Given the description of an element on the screen output the (x, y) to click on. 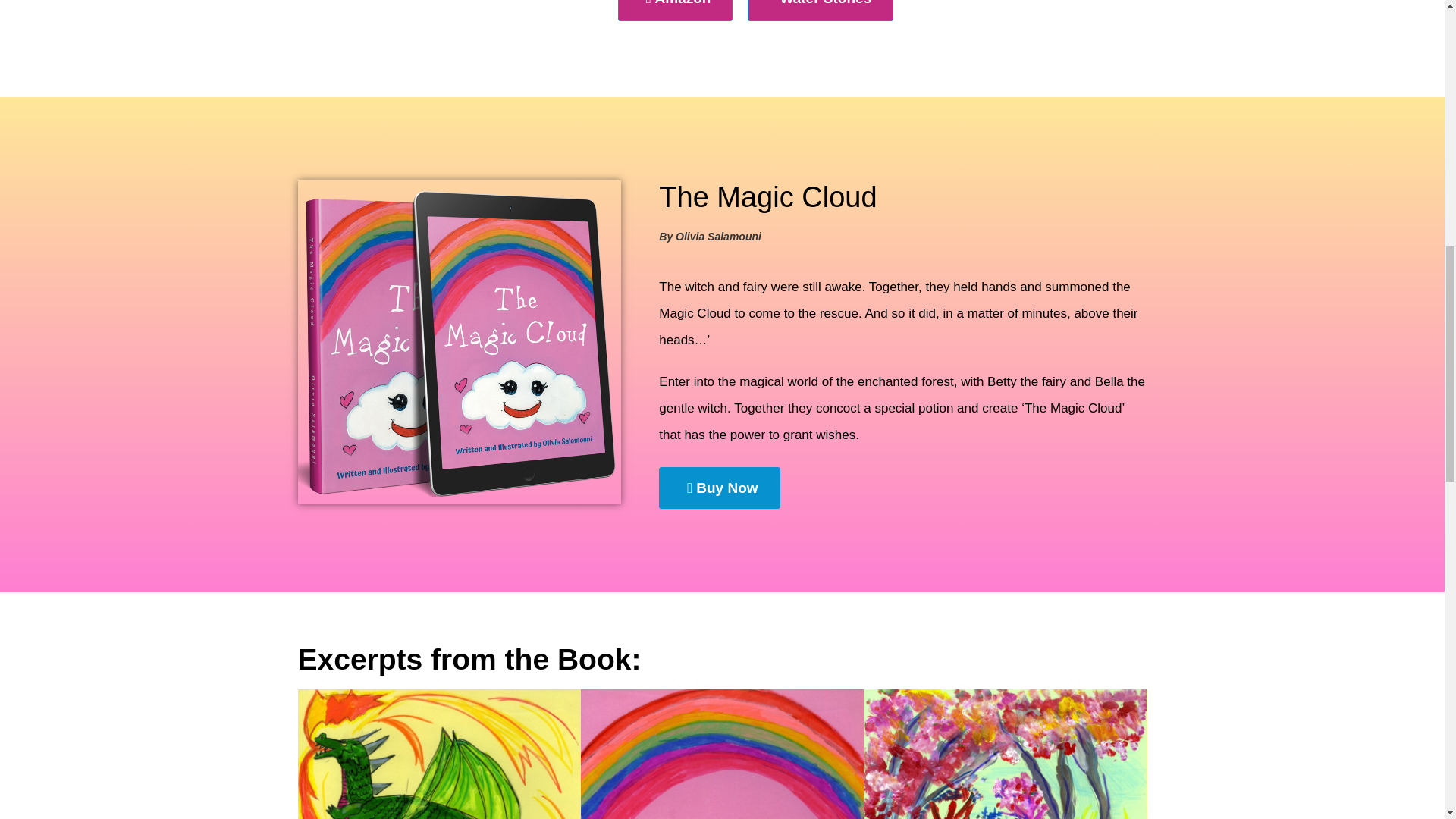
Water Stones (820, 10)
Buy Now (718, 487)
Amazon (675, 10)
